Given the description of an element on the screen output the (x, y) to click on. 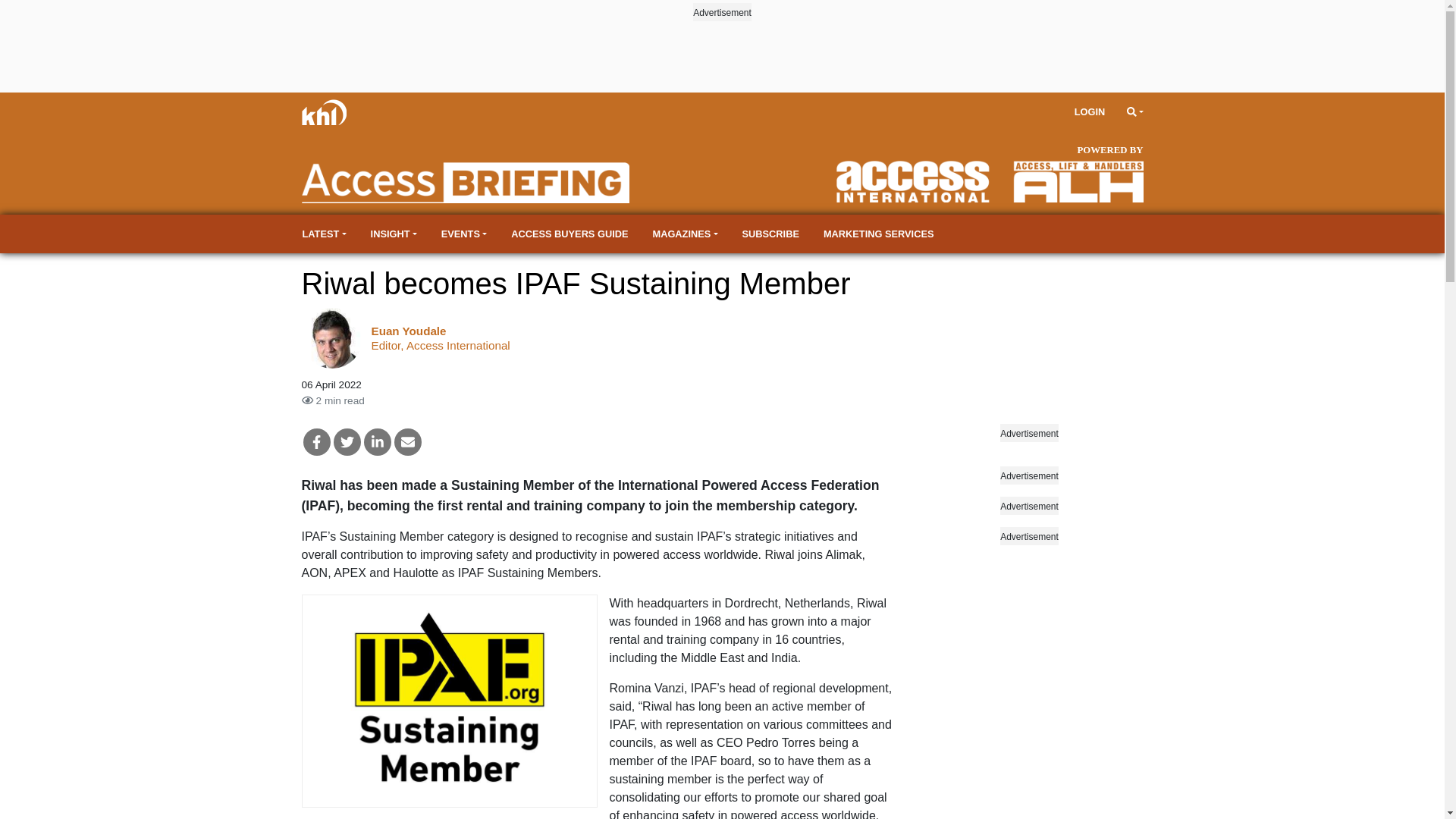
Share this page via email (408, 441)
Share this page on Linkedin (377, 441)
Share this page on Facebook (316, 441)
Share this page on Twitter (347, 441)
